Given the description of an element on the screen output the (x, y) to click on. 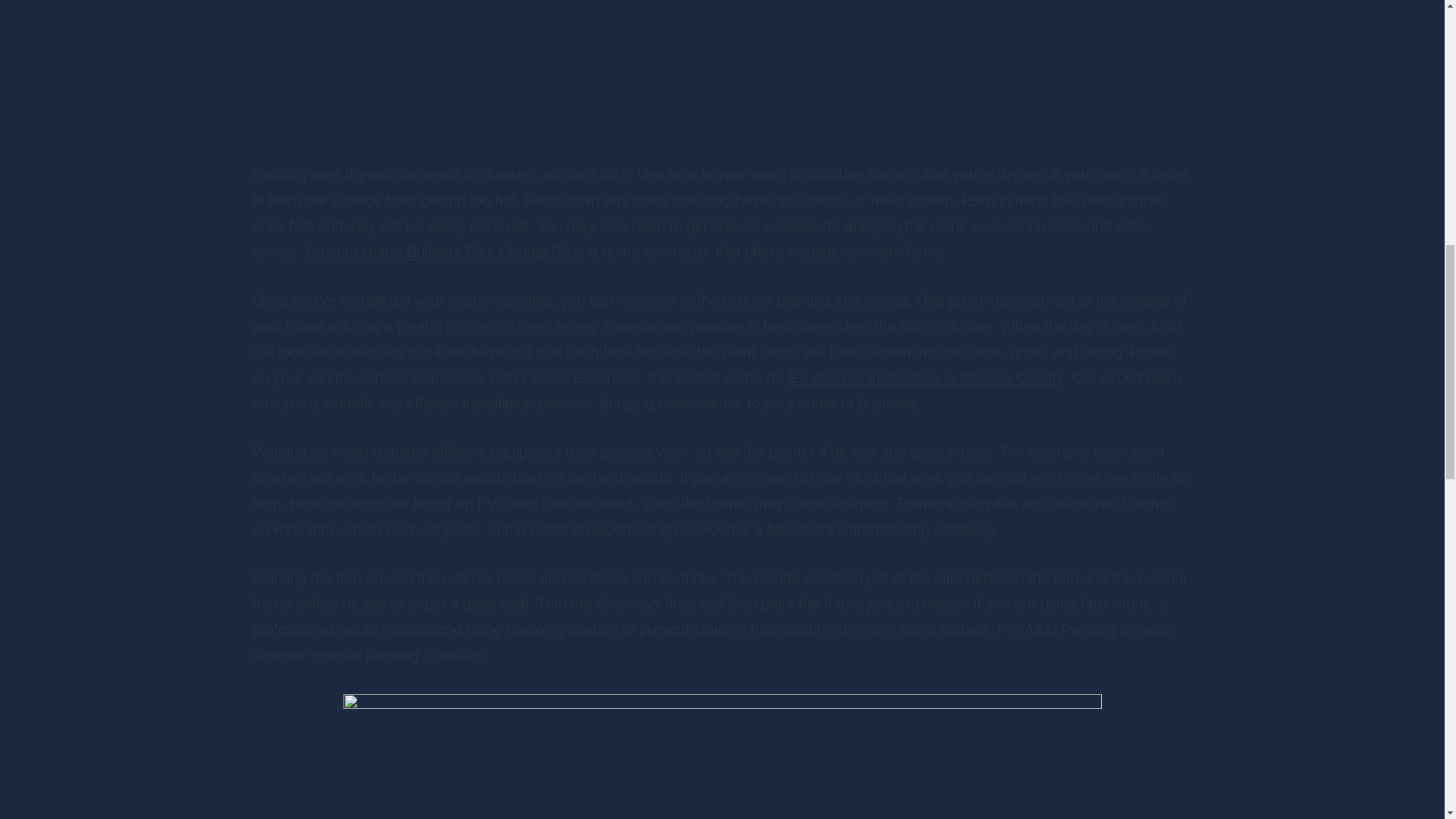
paving contractor New Jersey (496, 325)
electrician brookville (1098, 477)
EV charger installation in Nassau County (924, 377)
Custom Home Builders Pike County PA (437, 251)
